Given the description of an element on the screen output the (x, y) to click on. 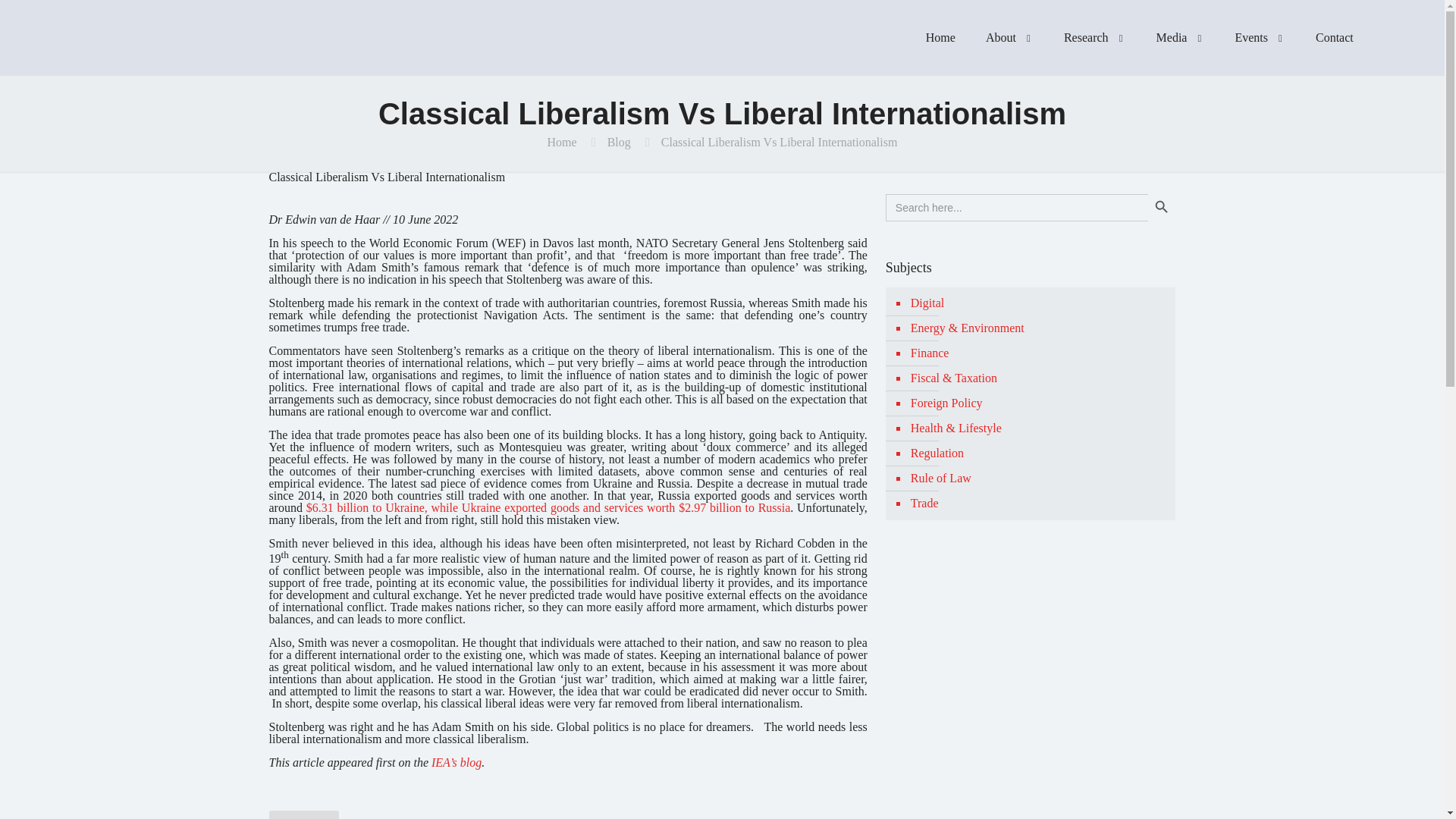
Home (941, 37)
About (1009, 37)
Research (1094, 37)
Media (1180, 37)
